Given the description of an element on the screen output the (x, y) to click on. 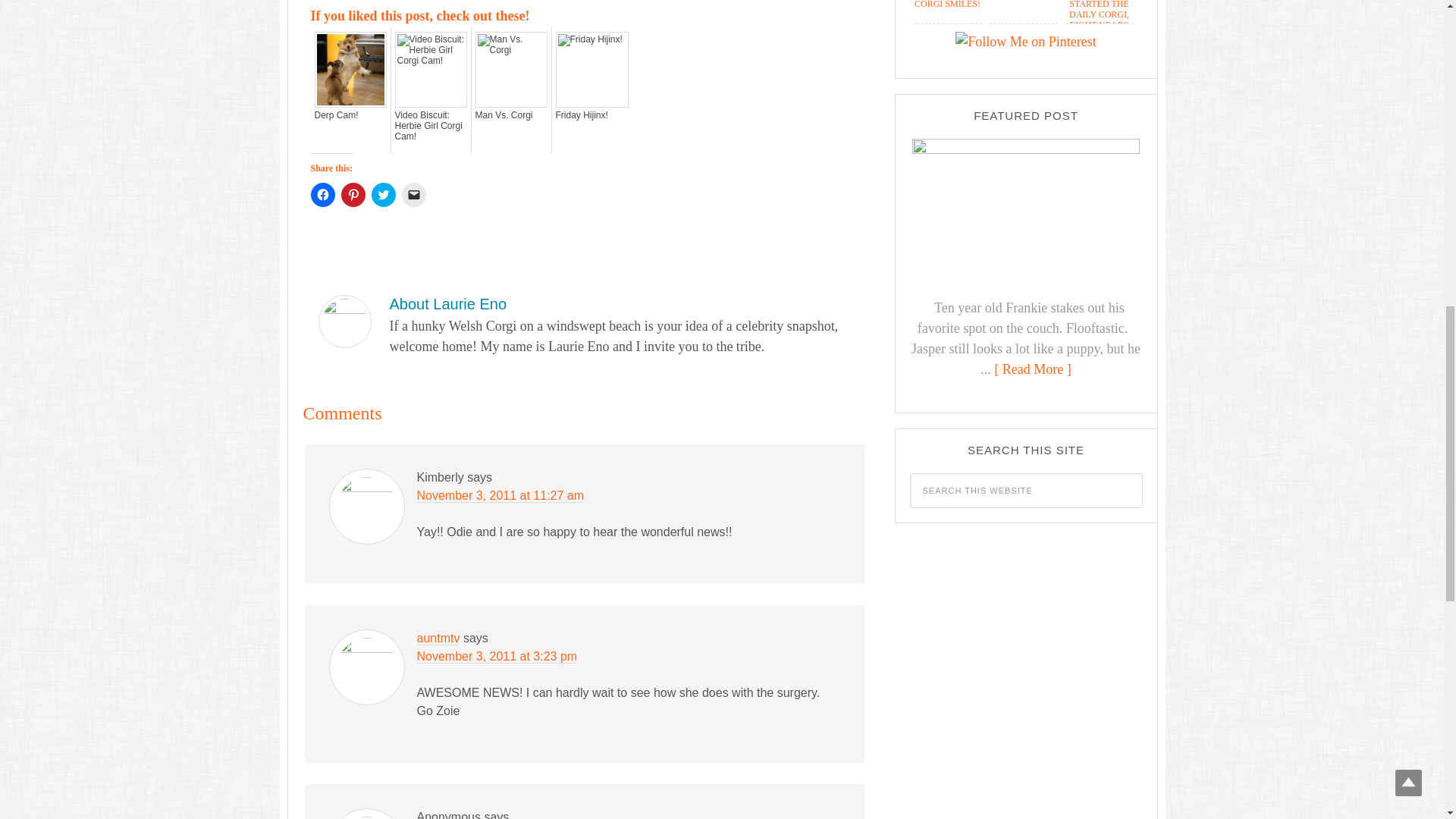
Man Vs. Corgi (510, 114)
Friday Hijinx! (590, 114)
auntmtv (438, 638)
November 3, 2011 at 11:27 am (500, 495)
Click to share on Facebook (322, 194)
Follow Me on Pinterest (1026, 45)
Click to share on Pinterest (352, 194)
Derp Cam! (349, 114)
Click to share on Twitter (383, 194)
Video Biscuit: Herbie Girl Corgi Cam! (429, 125)
Click to email a link to a friend (413, 194)
November 3, 2011 at 3:23 pm (497, 656)
